Given the description of an element on the screen output the (x, y) to click on. 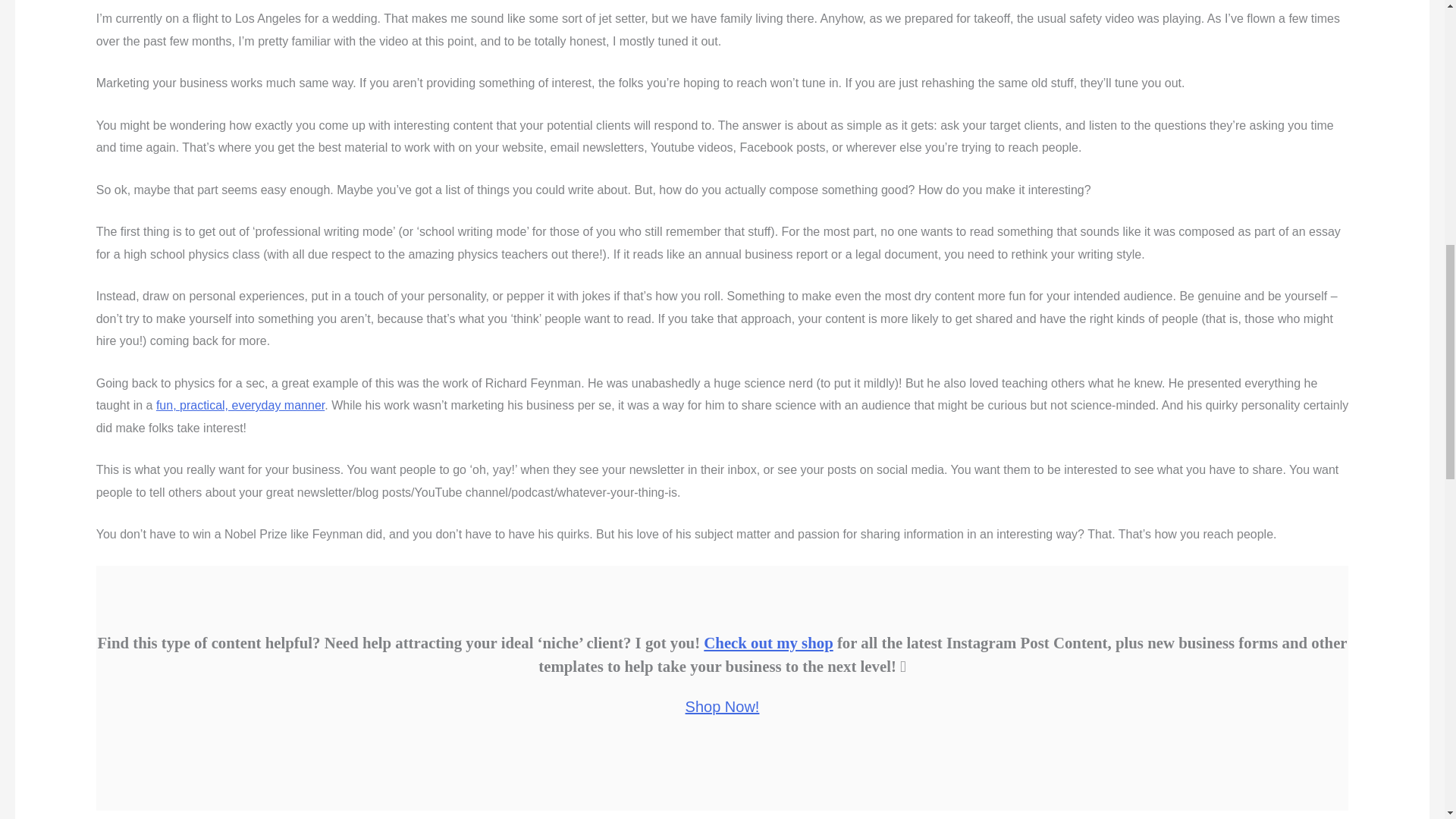
Check out my shop (767, 642)
fun, practical, everyday manner (239, 404)
Shop Now! (722, 706)
